Given the description of an element on the screen output the (x, y) to click on. 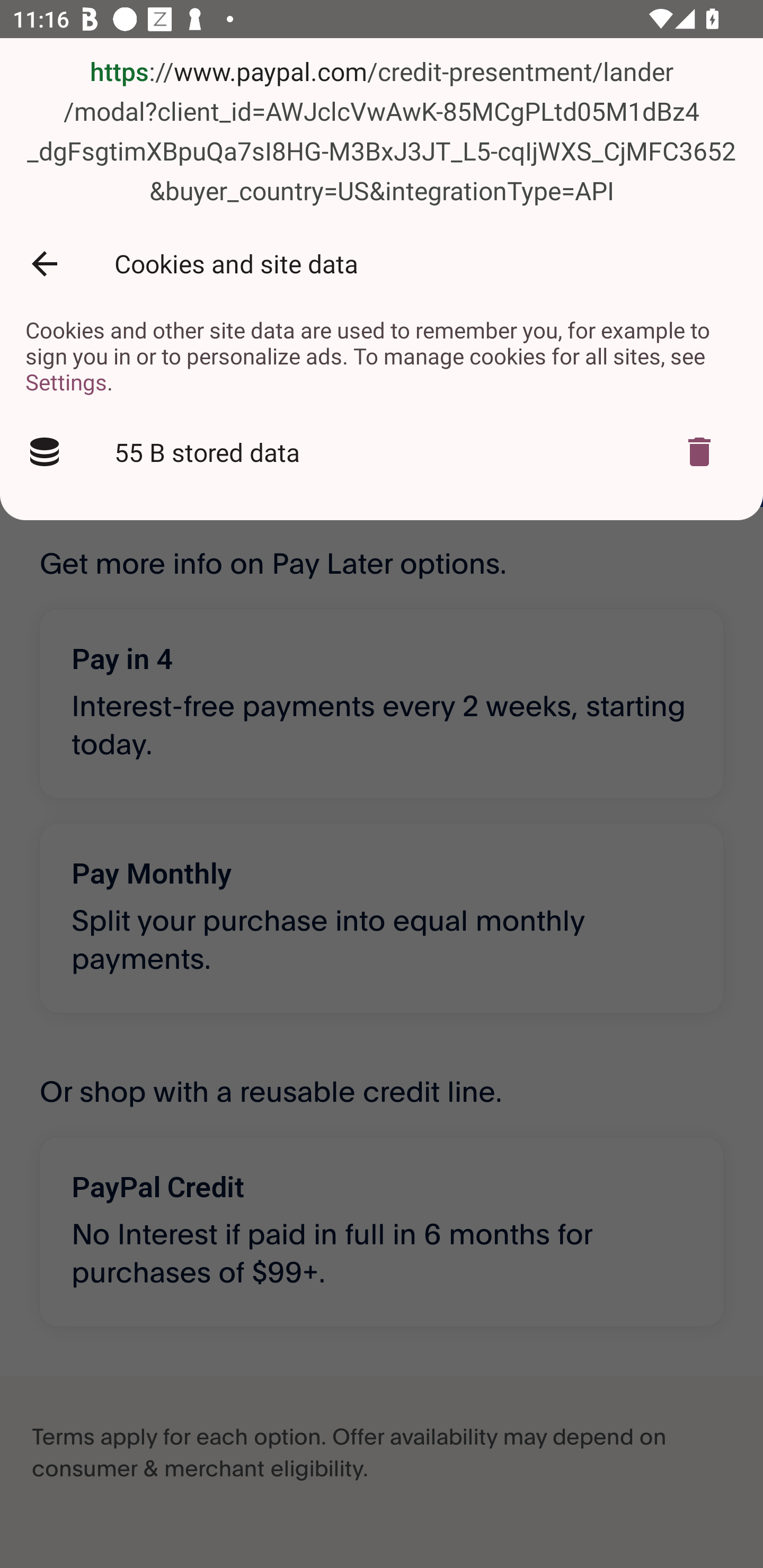
Back (44, 263)
55 B stored data Delete cookies? (381, 452)
